Given the description of an element on the screen output the (x, y) to click on. 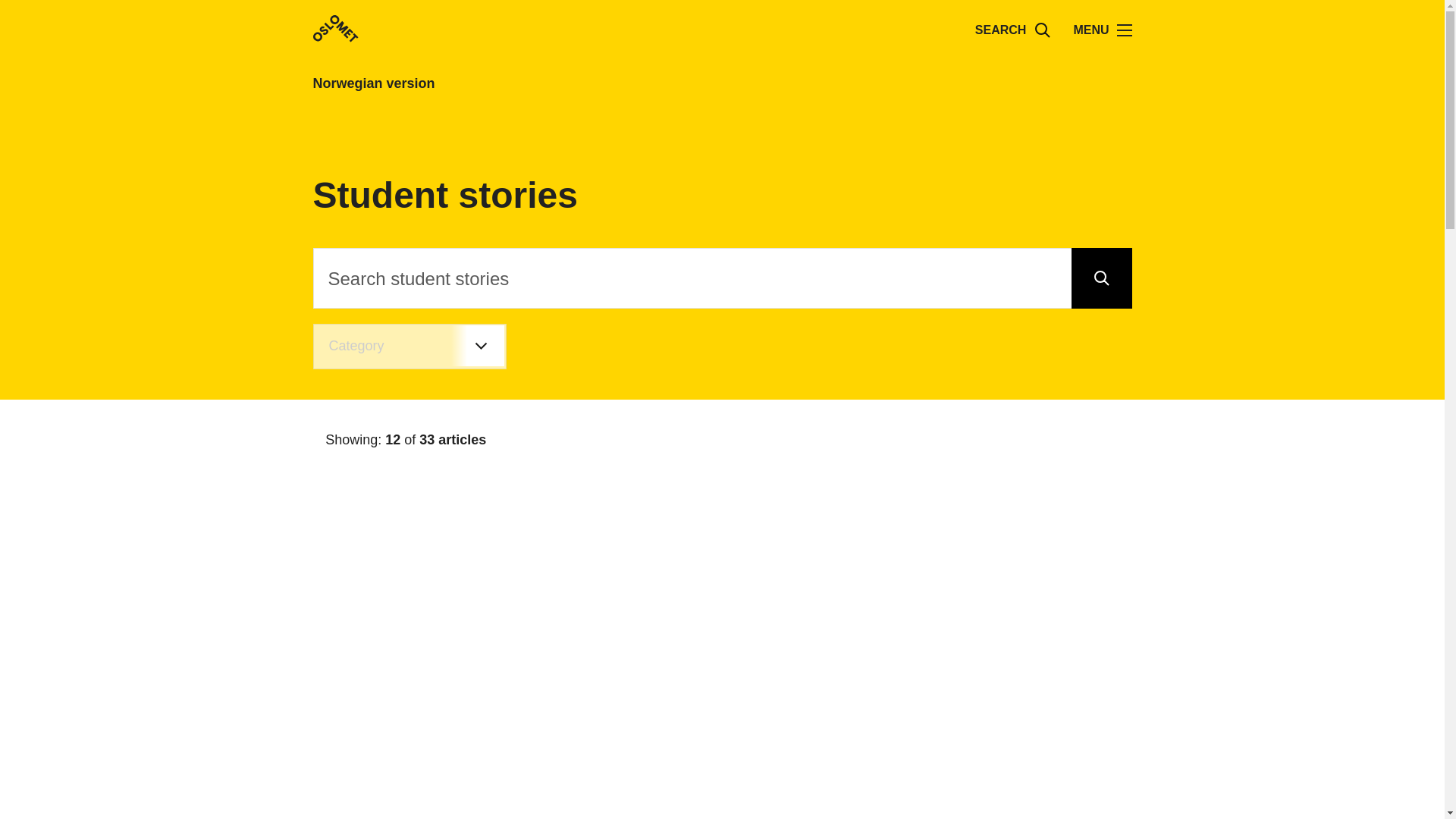
OsloMet - Home (335, 30)
OsloMet - Home (335, 28)
Norwegian version (430, 83)
